Given the description of an element on the screen output the (x, y) to click on. 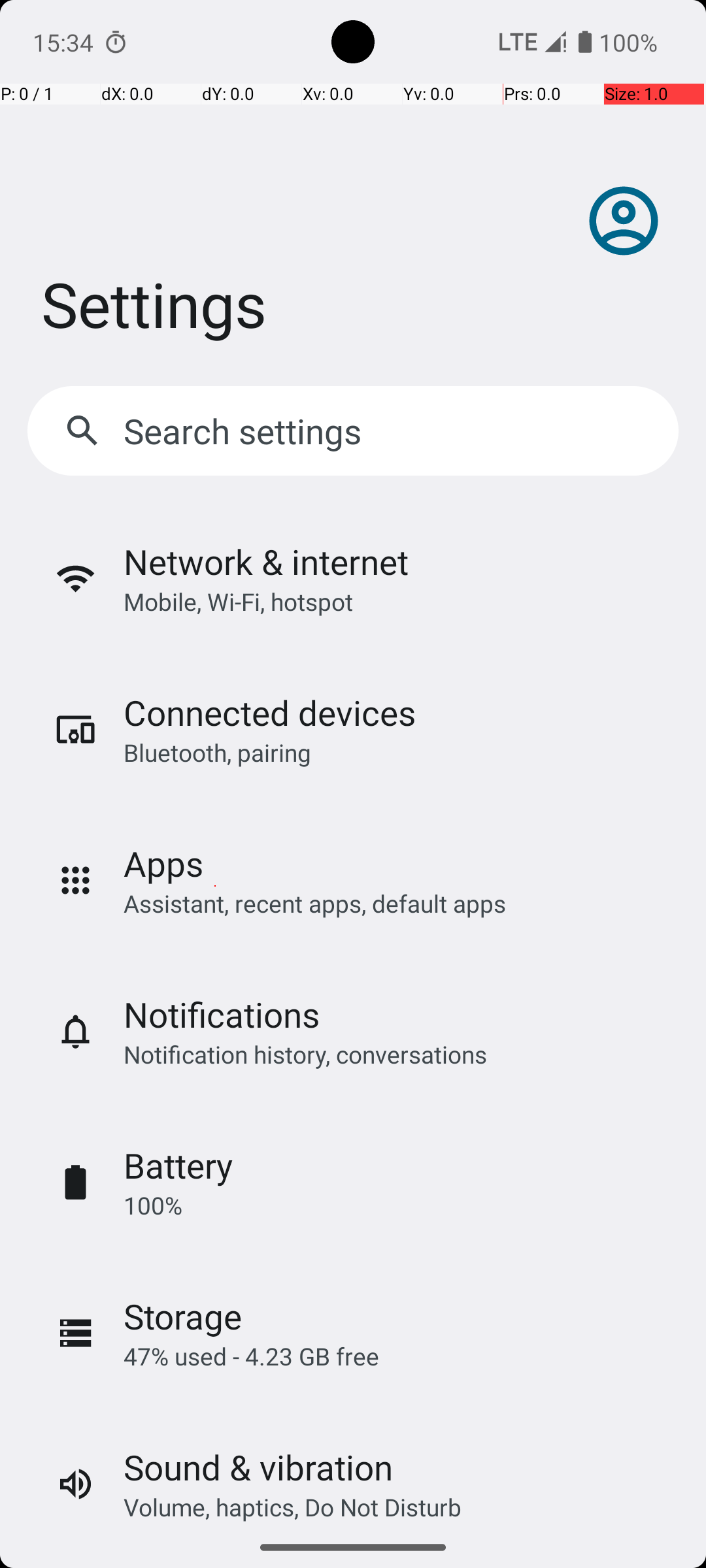
47% used - 4.23 GB free Element type: android.widget.TextView (251, 1355)
